Given the description of an element on the screen output the (x, y) to click on. 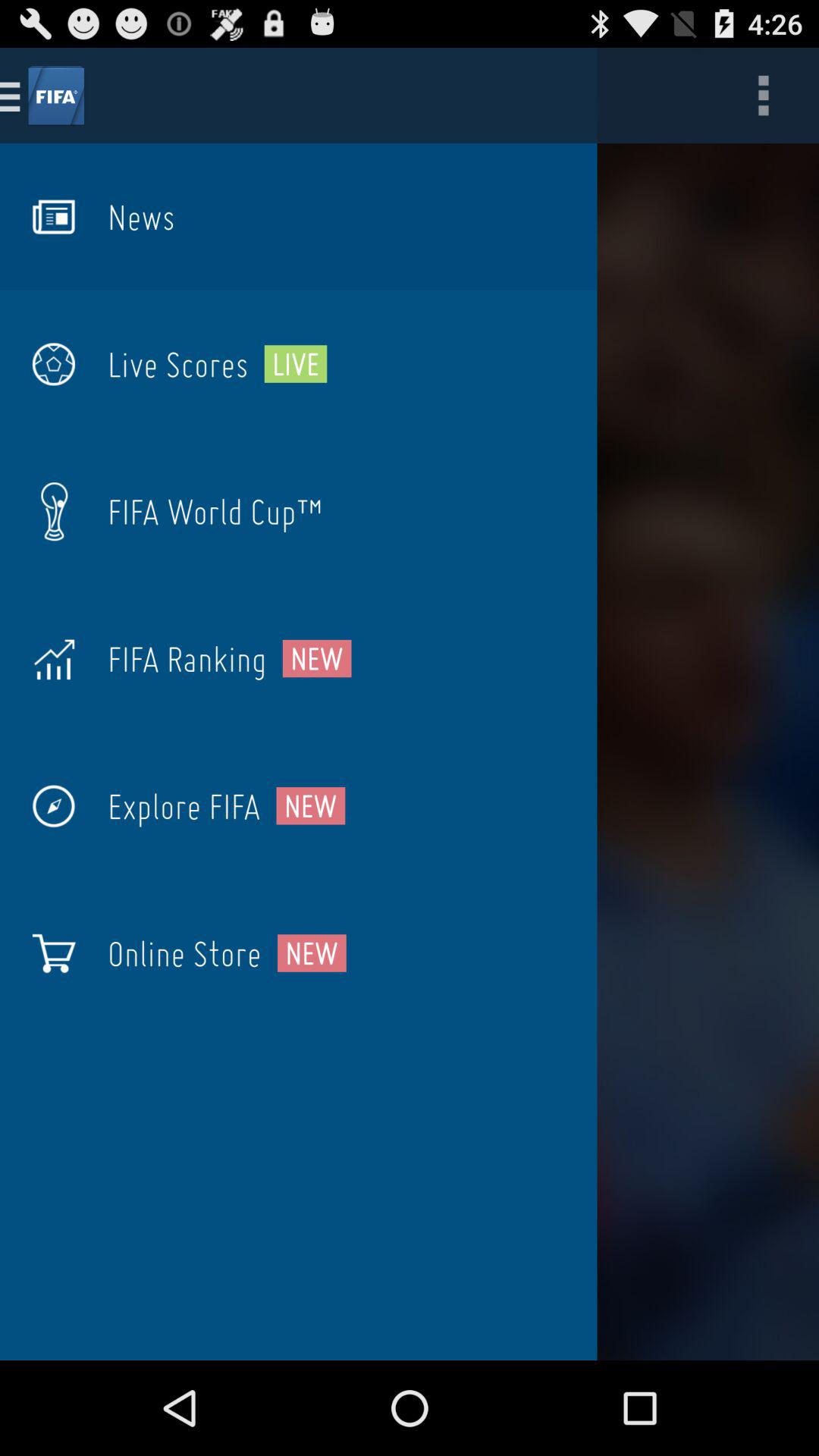
scroll until the fifa ranking item (186, 658)
